Given the description of an element on the screen output the (x, y) to click on. 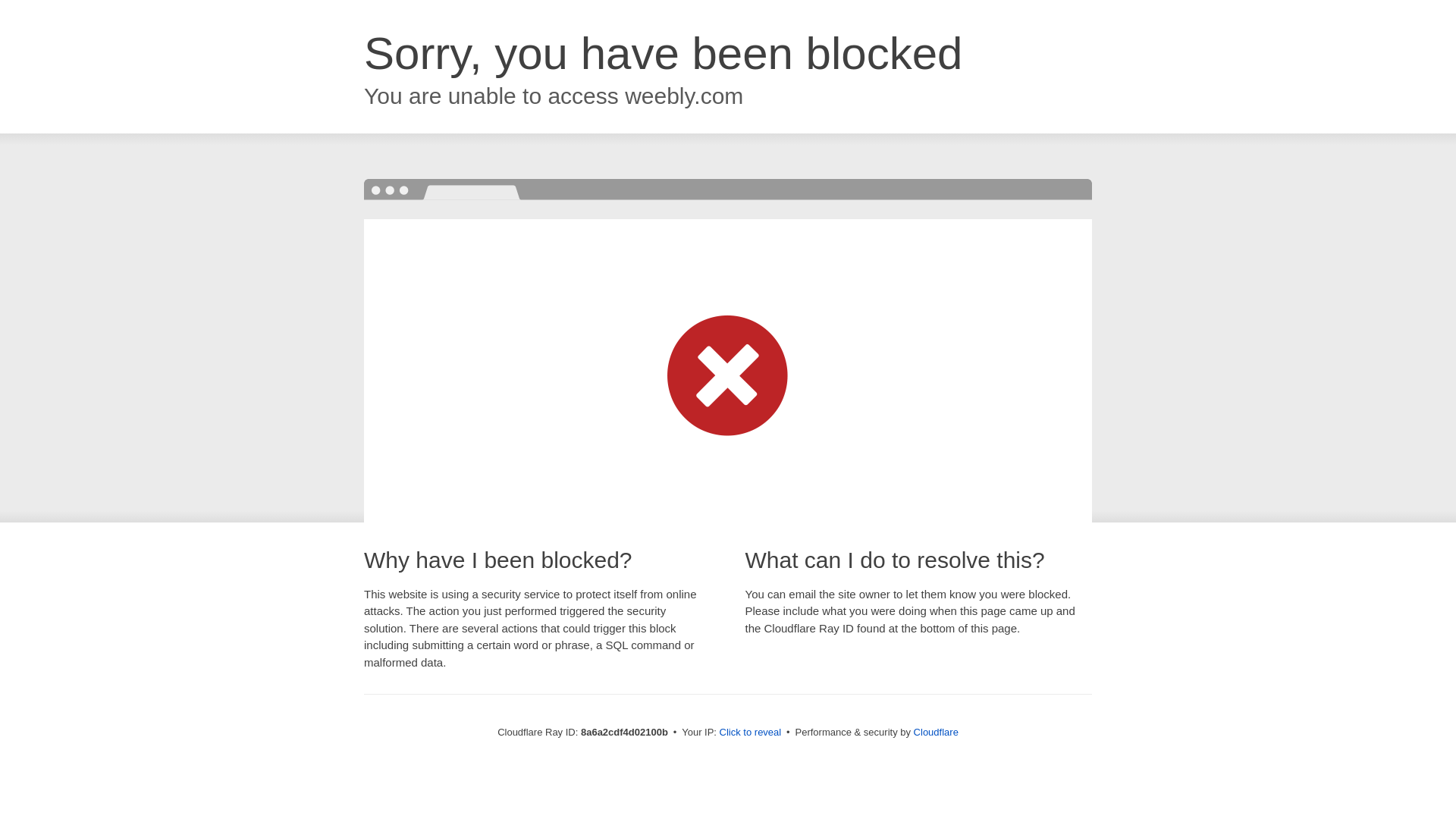
Click to reveal (750, 732)
Cloudflare (936, 731)
